Given the description of an element on the screen output the (x, y) to click on. 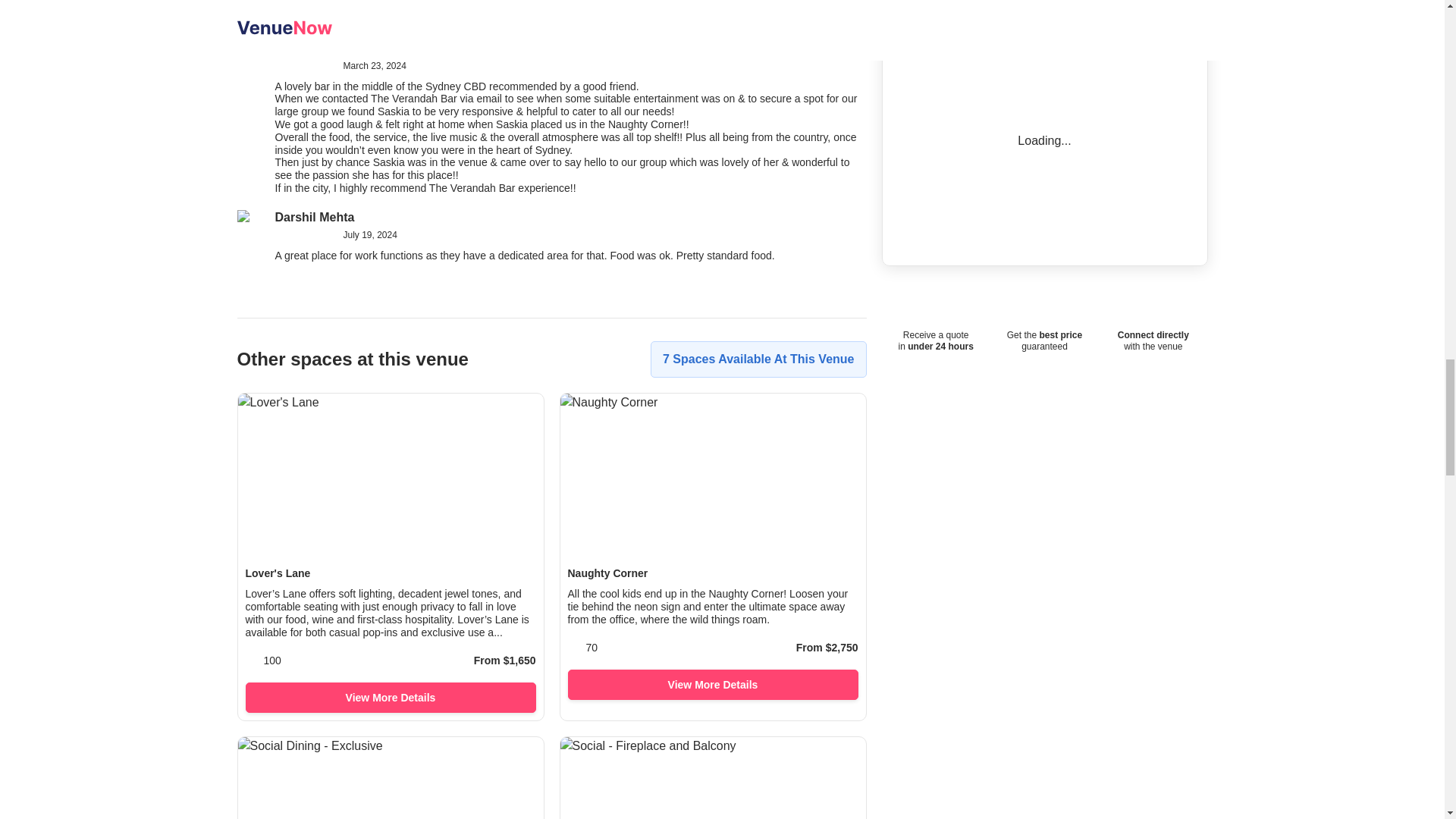
Naughty Corner (712, 573)
Add Naughty Corner space to wishlist (838, 420)
Add Social - Fireplace and Balcony space to wishlist (838, 764)
Add Social Dining - Exclusive space to wishlist (515, 764)
Add Lover's Lane space to wishlist (515, 420)
Lover's Lane  (390, 573)
View More Details (390, 697)
View More Details (712, 684)
Naughty Corner  (712, 573)
Lover's Lane (390, 573)
